Given the description of an element on the screen output the (x, y) to click on. 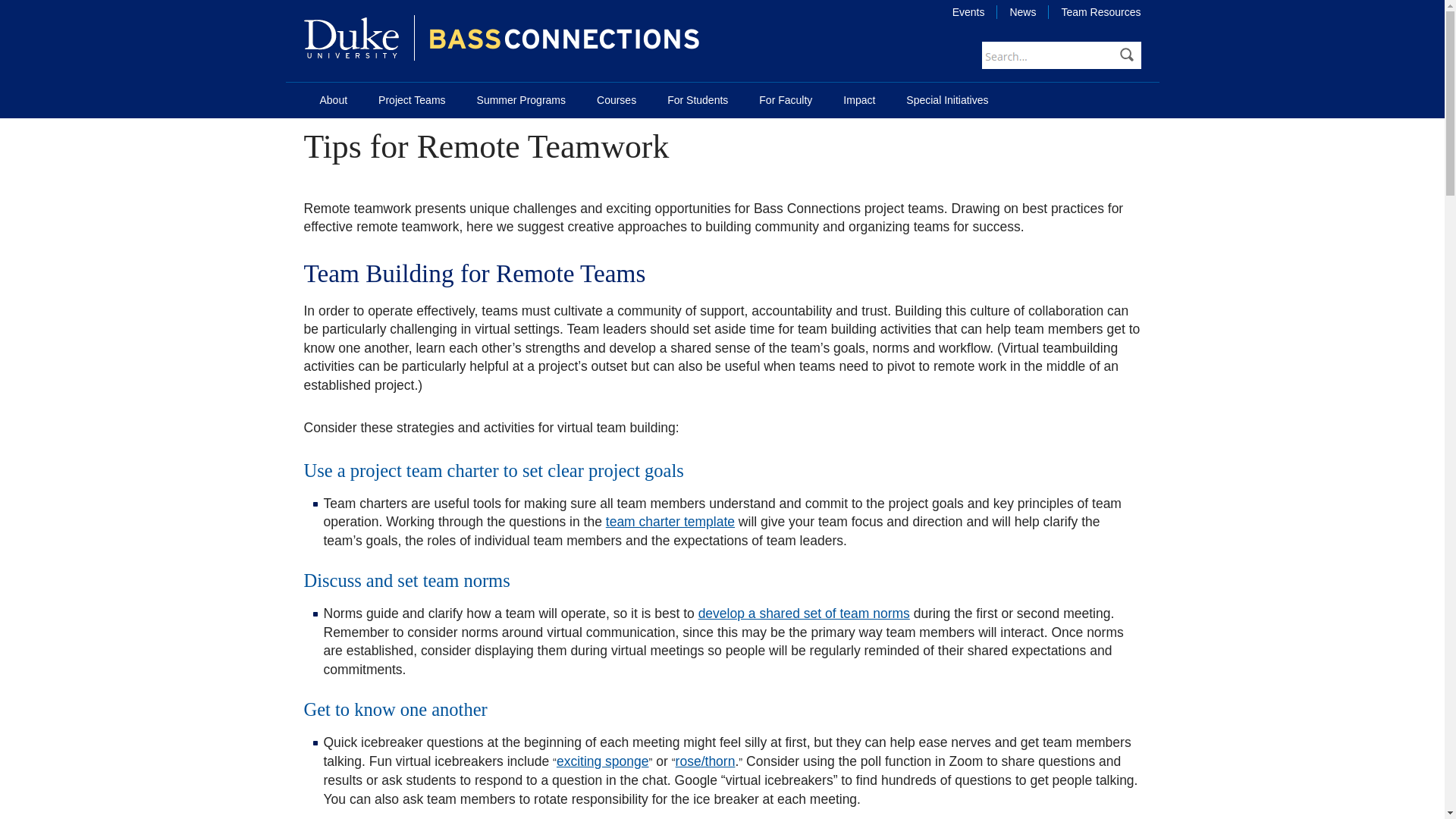
Summer Programs (520, 99)
Home (563, 38)
Impact (858, 99)
Courses (615, 99)
Search (1126, 54)
Search (1126, 54)
Skip to main content (34, 0)
About (333, 99)
Events (968, 11)
Home (349, 37)
News (1022, 11)
For Faculty (785, 99)
Team Resources (1095, 11)
Project Teams (411, 99)
For Students (697, 99)
